Given the description of an element on the screen output the (x, y) to click on. 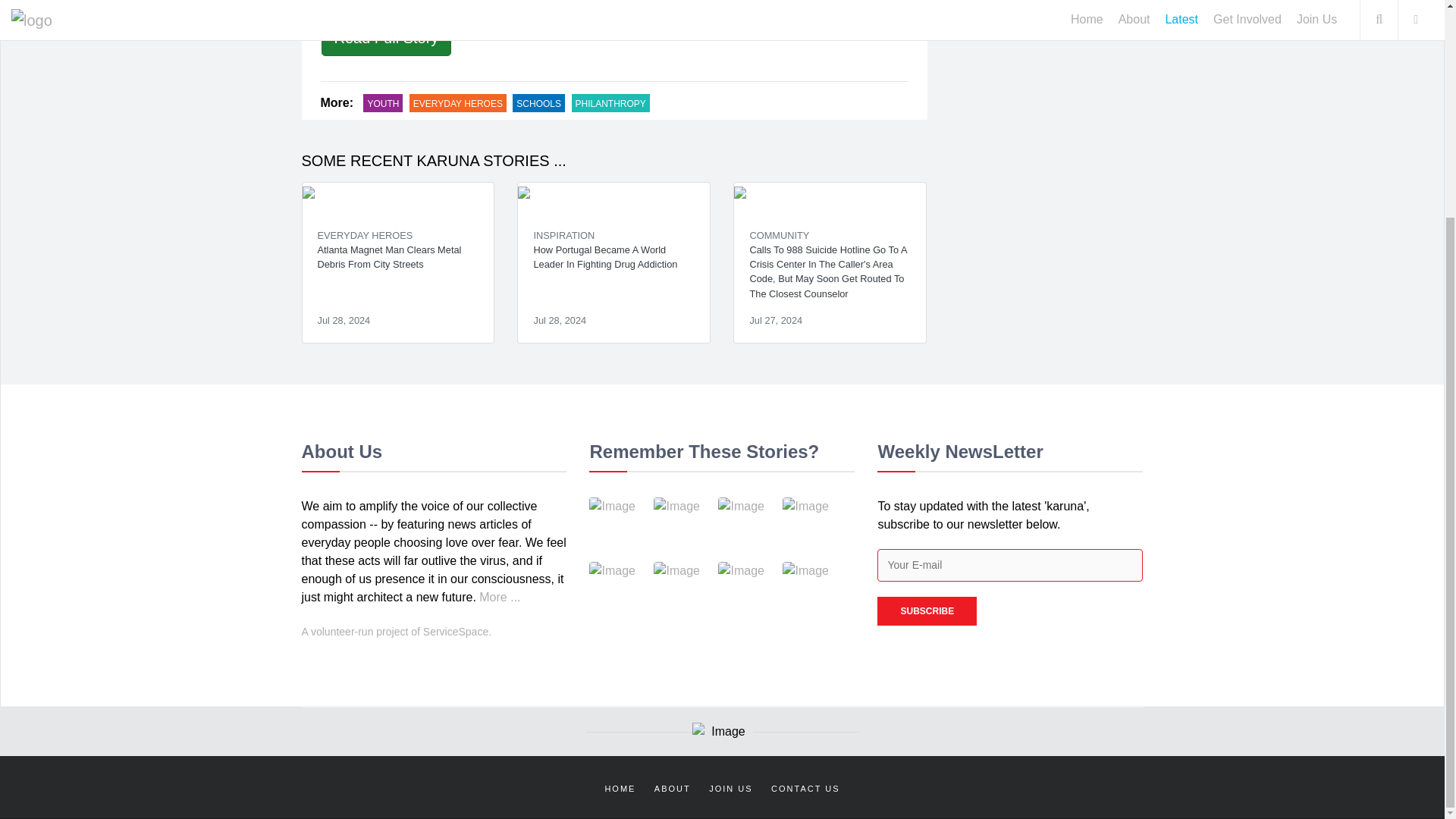
EVERYDAY HEROES (457, 103)
Read Full Story (386, 37)
Atlanta Magnet Man Clears Metal Debris From City Streets (398, 263)
PHILANTHROPY (610, 103)
INSPIRATION (563, 235)
SCHOOLS (538, 103)
YOUTH (382, 103)
EVERYDAY HEROES (364, 235)
